Given the description of an element on the screen output the (x, y) to click on. 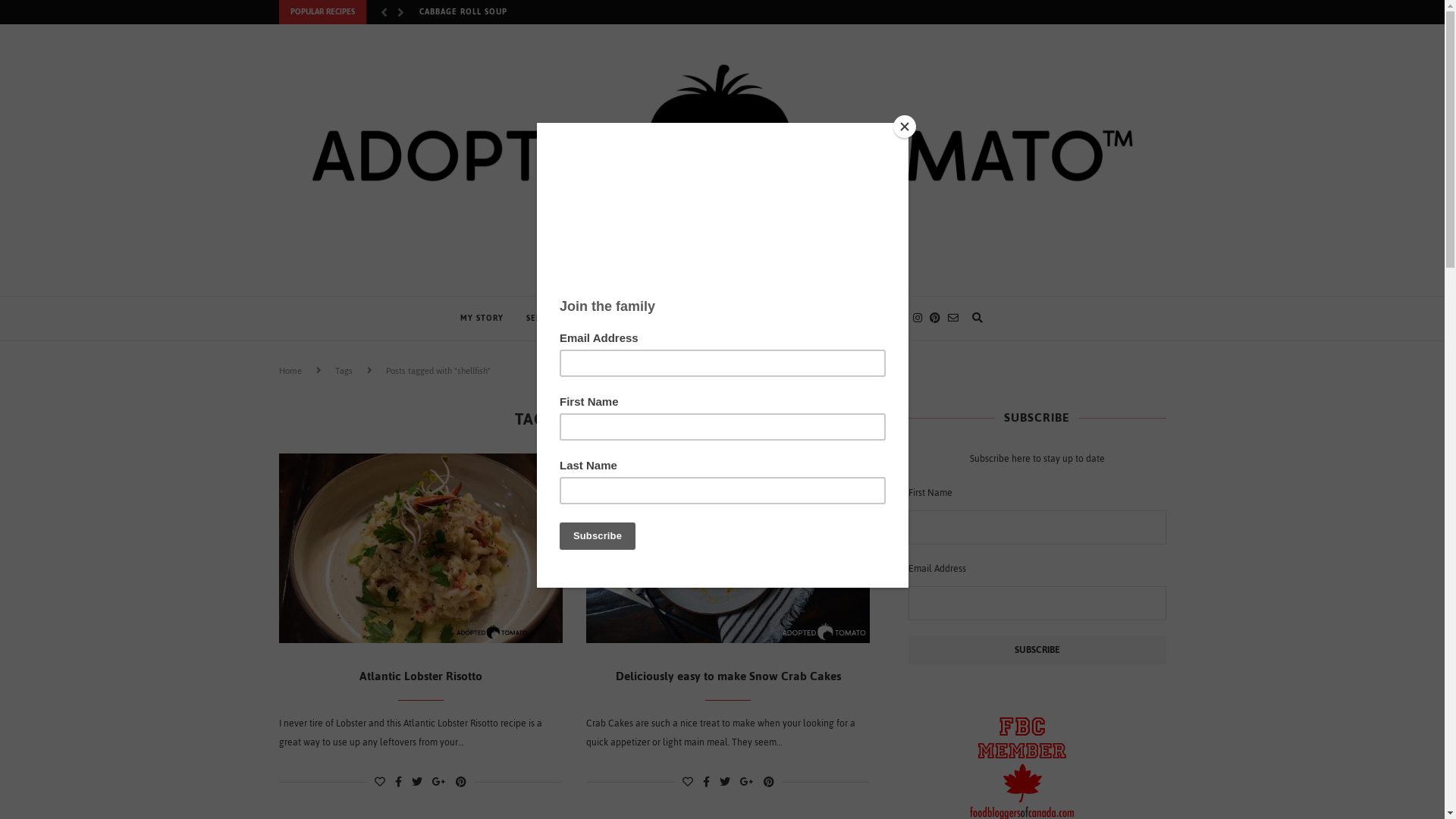
SERVICES Element type: text (545, 318)
Deliciously easy to make Snow Crab Cakes Element type: text (727, 675)
Atlantic Lobster Risotto Element type: hover (421, 548)
CONTACT ME Element type: text (847, 318)
Like Element type: hover (379, 782)
MY STORY Element type: text (480, 318)
Subscribe Element type: text (1037, 649)
Like Element type: hover (687, 782)
RECIPE INDEX Element type: text (620, 318)
Deliciously easy to make Snow Crab Cakes Element type: hover (728, 548)
Atlantic Lobster Risotto Element type: text (420, 675)
Home Element type: text (290, 370)
CABBAGE ROLL SOUP Element type: text (462, 15)
GARDEN TIPS AND TRICKS Element type: text (738, 318)
